Given the description of an element on the screen output the (x, y) to click on. 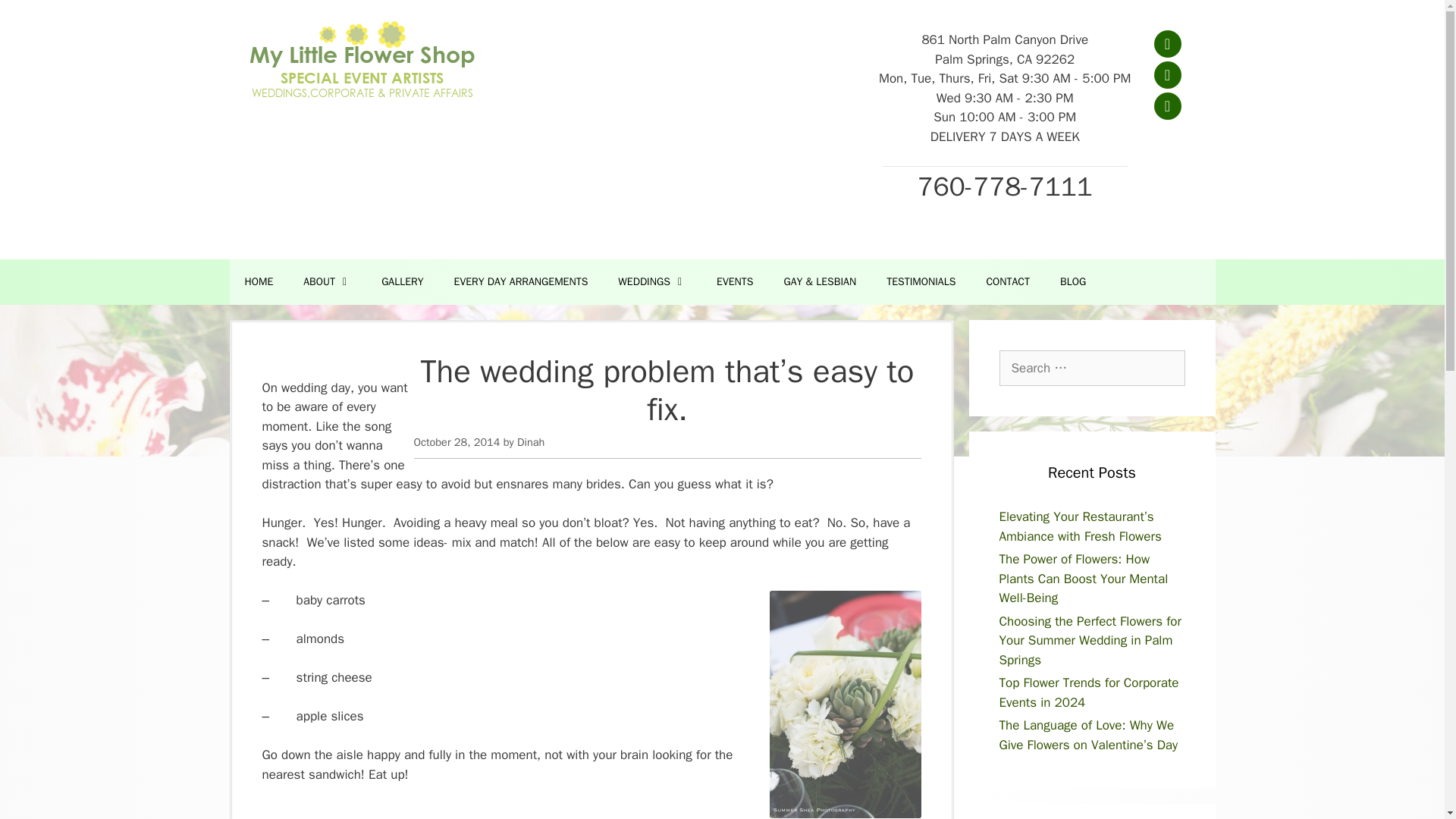
EVERY DAY ARRANGEMENTS (521, 281)
Search (35, 18)
WEDDINGS (651, 281)
EVENTS (734, 281)
Search for: (1091, 368)
HOME (258, 281)
Dinah (530, 441)
GALLERY (402, 281)
